Given the description of an element on the screen output the (x, y) to click on. 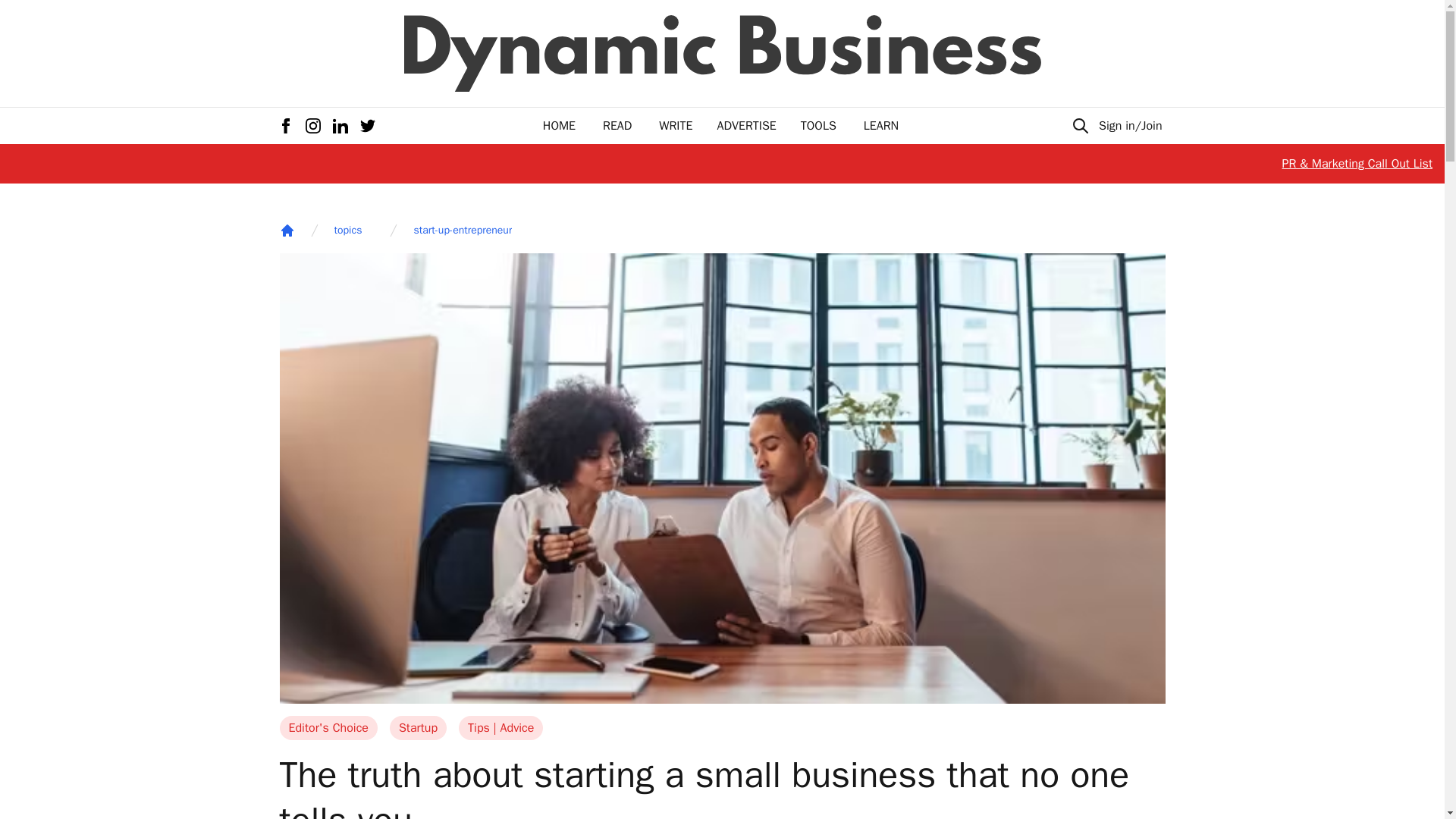
READ (616, 126)
TOOLS (817, 126)
Editor's Choice (328, 727)
Home (286, 230)
start-up-entrepreneur (462, 230)
HOME (559, 126)
Startup (418, 727)
ADVERTISE (746, 126)
topics (347, 230)
WRITE (676, 126)
